Given the description of an element on the screen output the (x, y) to click on. 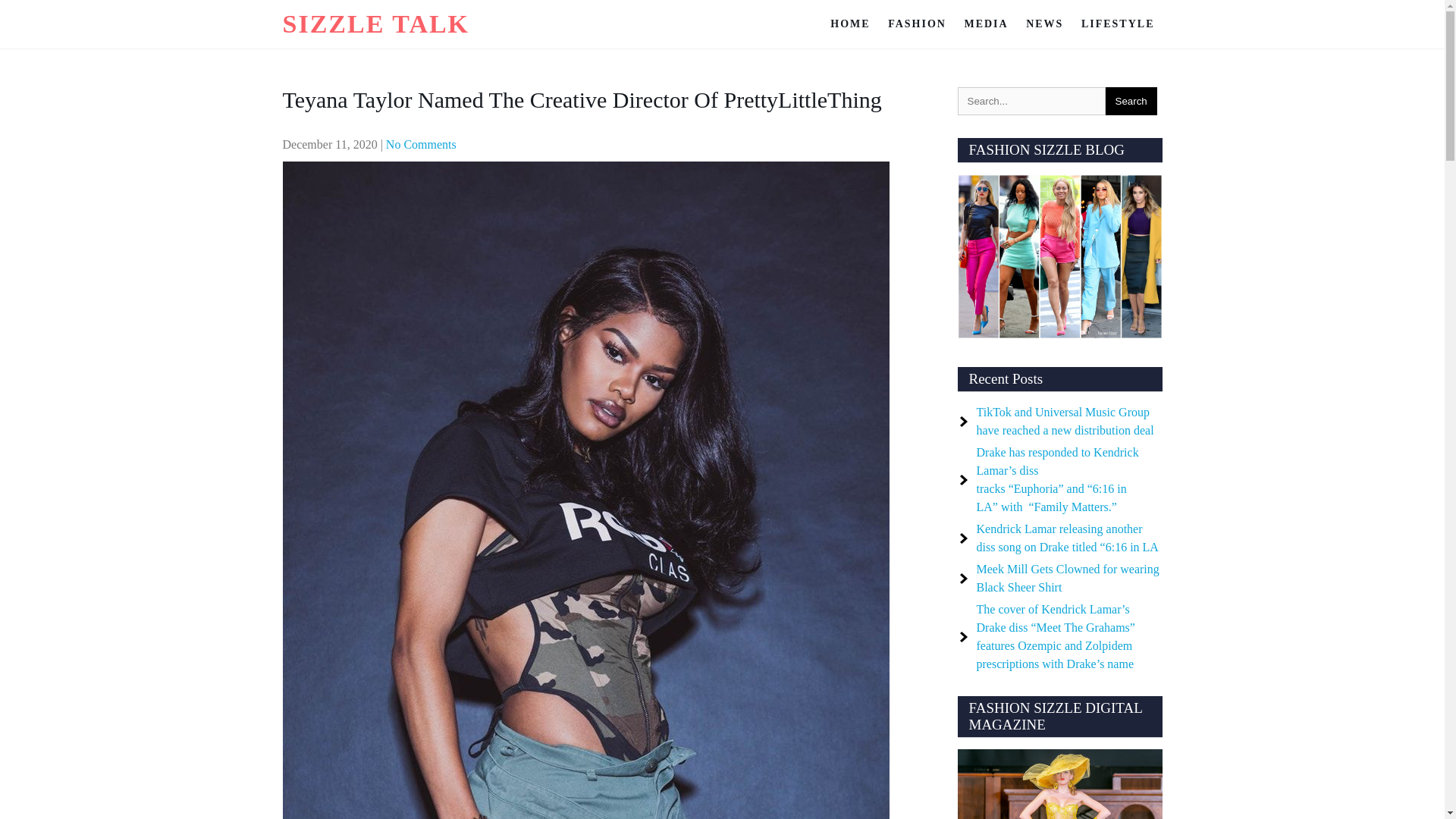
FASHION (916, 24)
HOME (849, 24)
Search (1131, 100)
NEWS (1043, 24)
LIFESTYLE (1117, 24)
No Comments (421, 144)
Search (1131, 100)
SIZZLE TALK (375, 23)
MEDIA (985, 24)
